Given the description of an element on the screen output the (x, y) to click on. 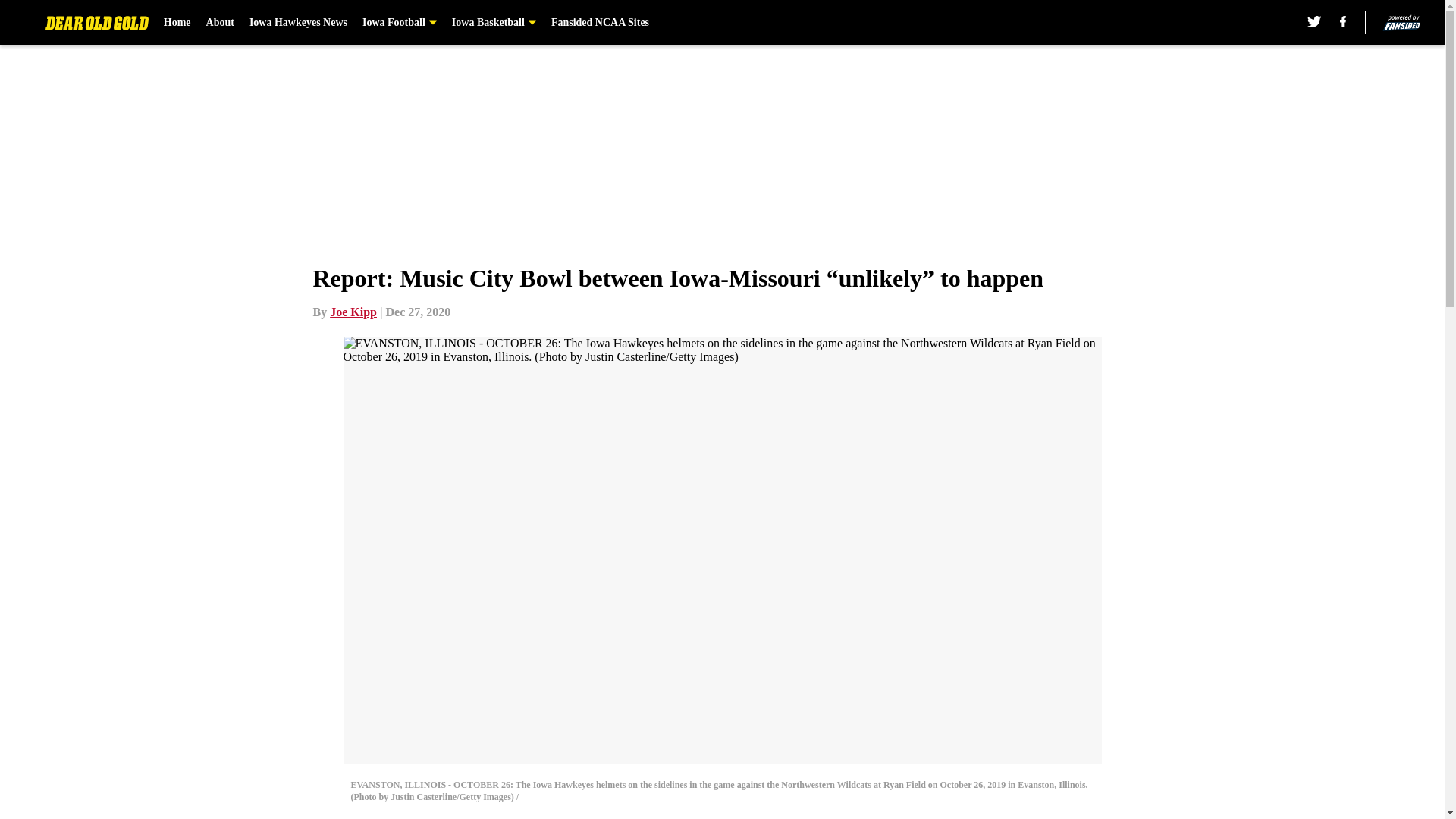
About (220, 22)
Iowa Hawkeyes News (297, 22)
Fansided NCAA Sites (600, 22)
Home (176, 22)
Joe Kipp (353, 311)
